Given the description of an element on the screen output the (x, y) to click on. 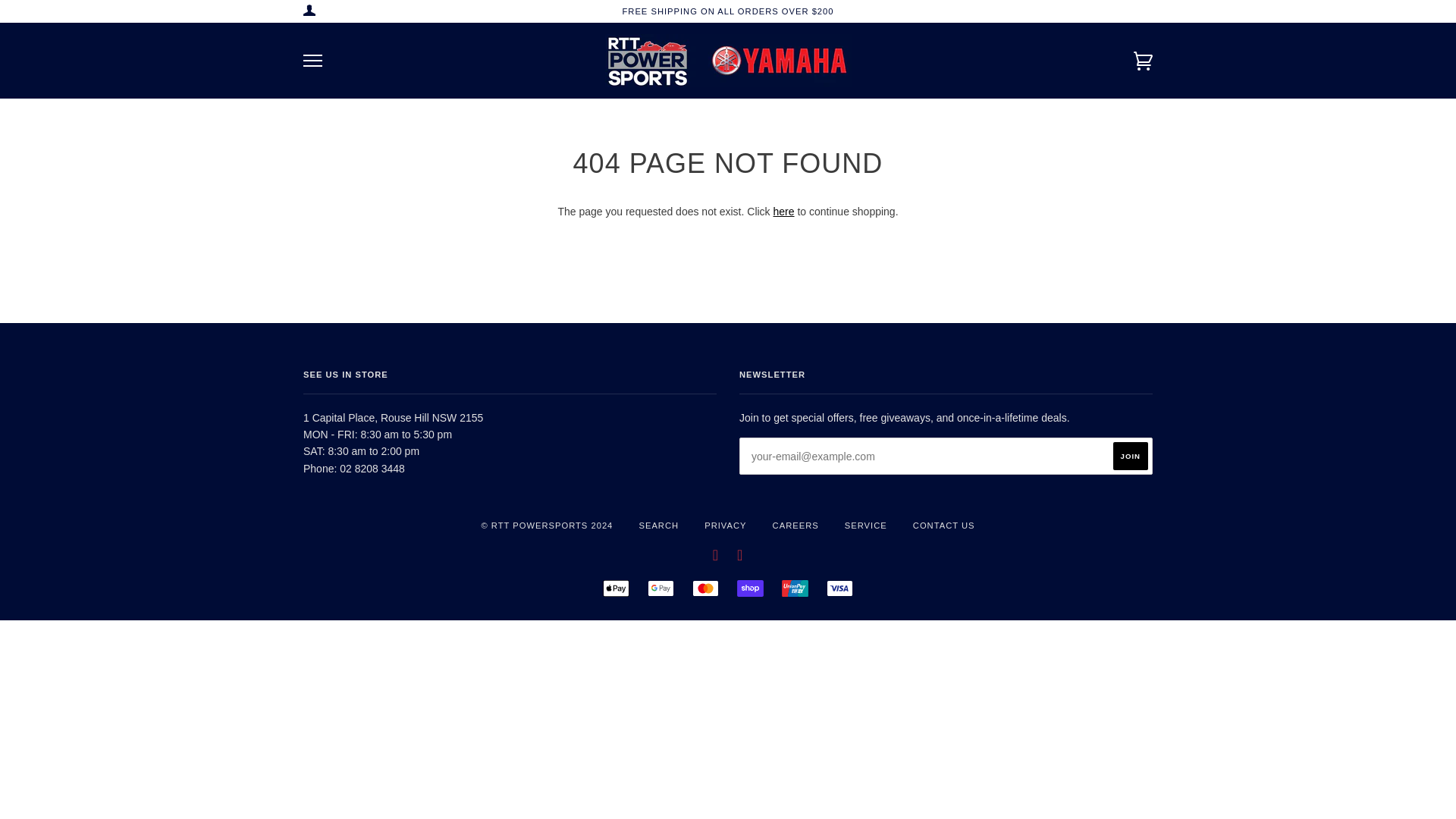
UNION PAY (794, 588)
VISA (840, 588)
Join (1130, 456)
MASTERCARD (706, 588)
Search (1143, 11)
APPLE PAY (615, 588)
SHOP PAY (749, 588)
GOOGLE PAY (660, 588)
